Given the description of an element on the screen output the (x, y) to click on. 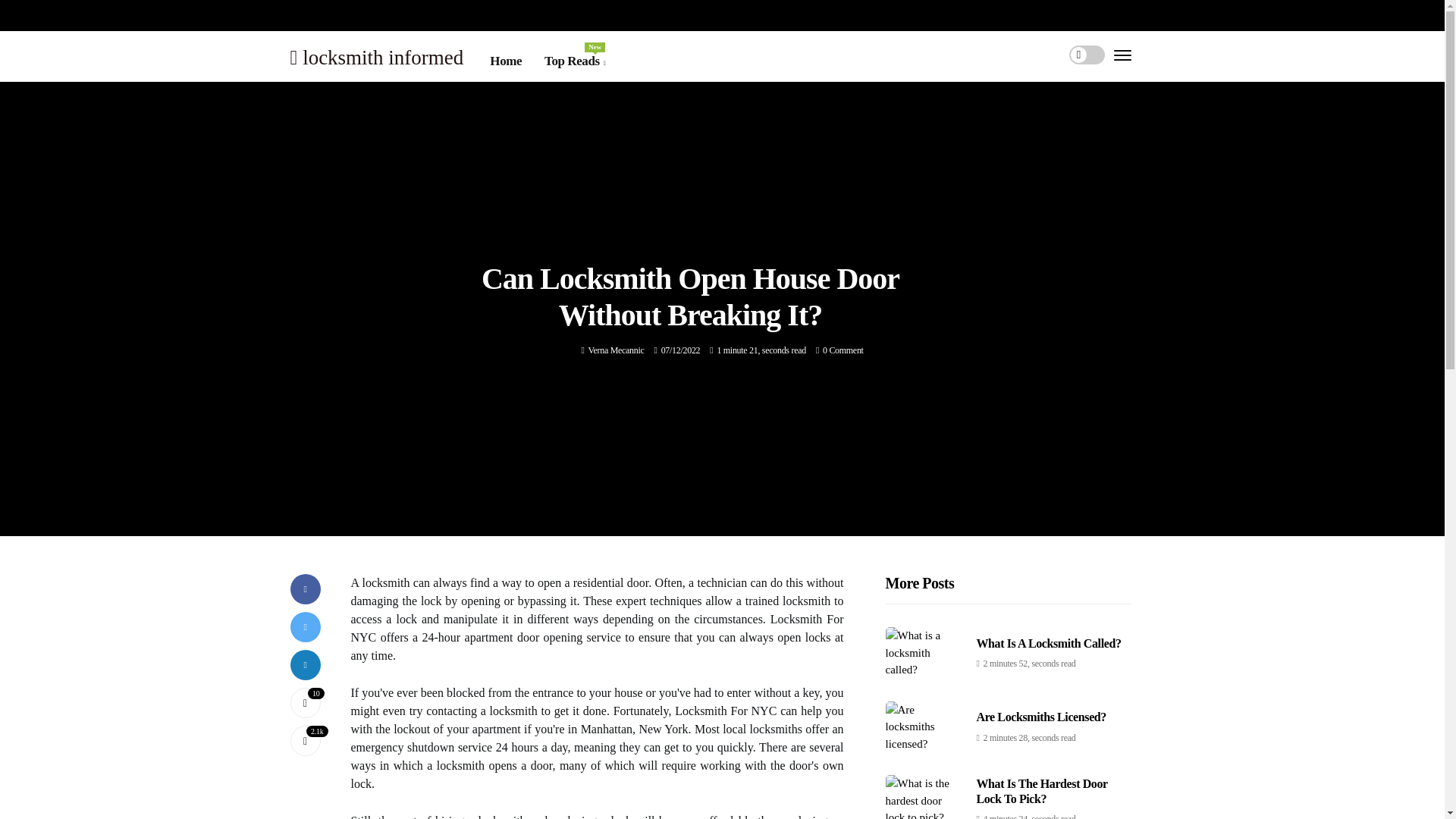
What Is The Hardest Door Lock To Pick? (1042, 790)
0 Comment (842, 349)
10 (304, 702)
Verna Mecannic (615, 349)
locksmith informed (376, 56)
Posts by Verna Mecannic (574, 61)
What Is A Locksmith Called? (615, 349)
Like (1048, 643)
Are Locksmiths Licensed? (304, 702)
